Given the description of an element on the screen output the (x, y) to click on. 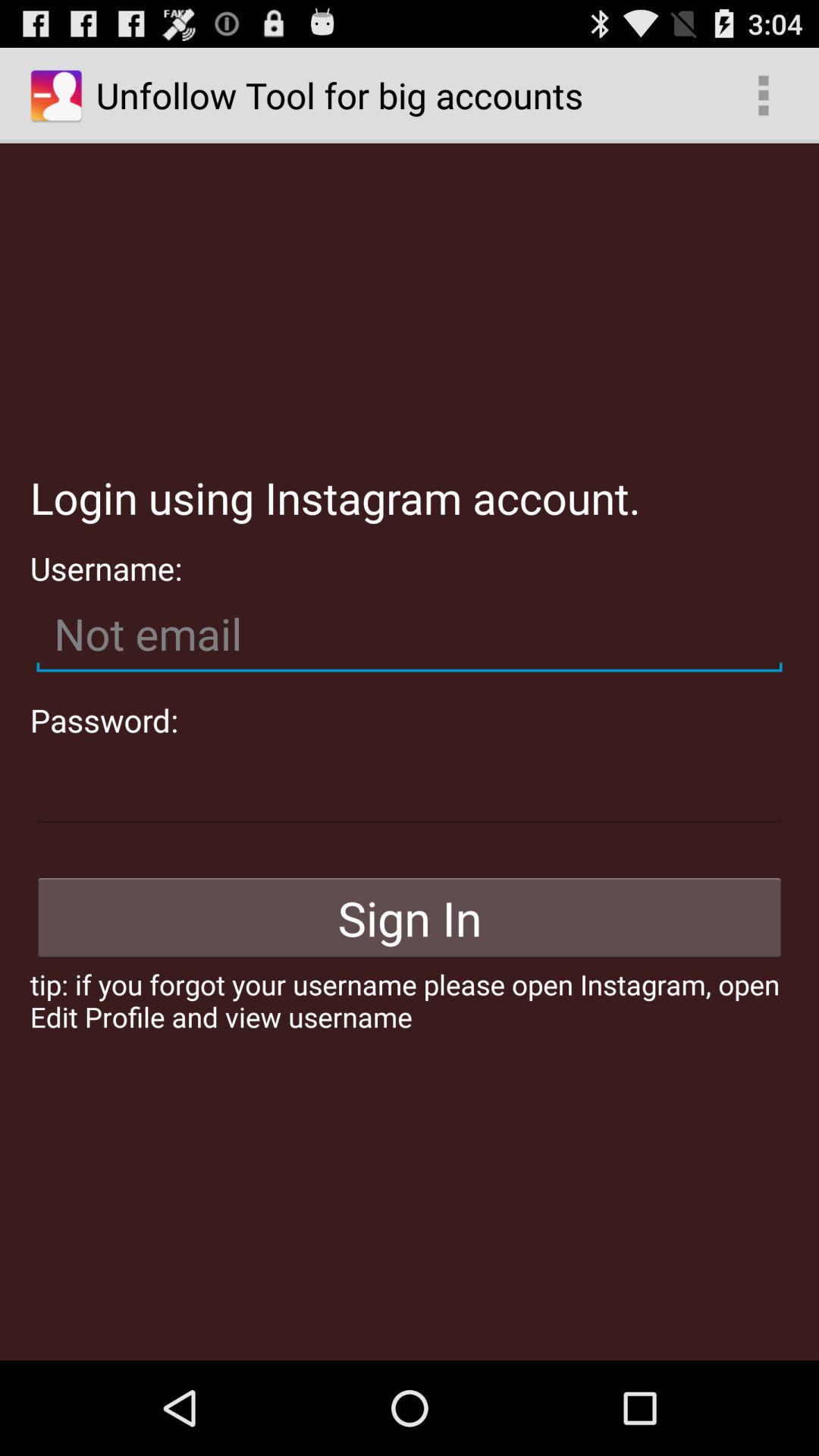
enter username (409, 633)
